Given the description of an element on the screen output the (x, y) to click on. 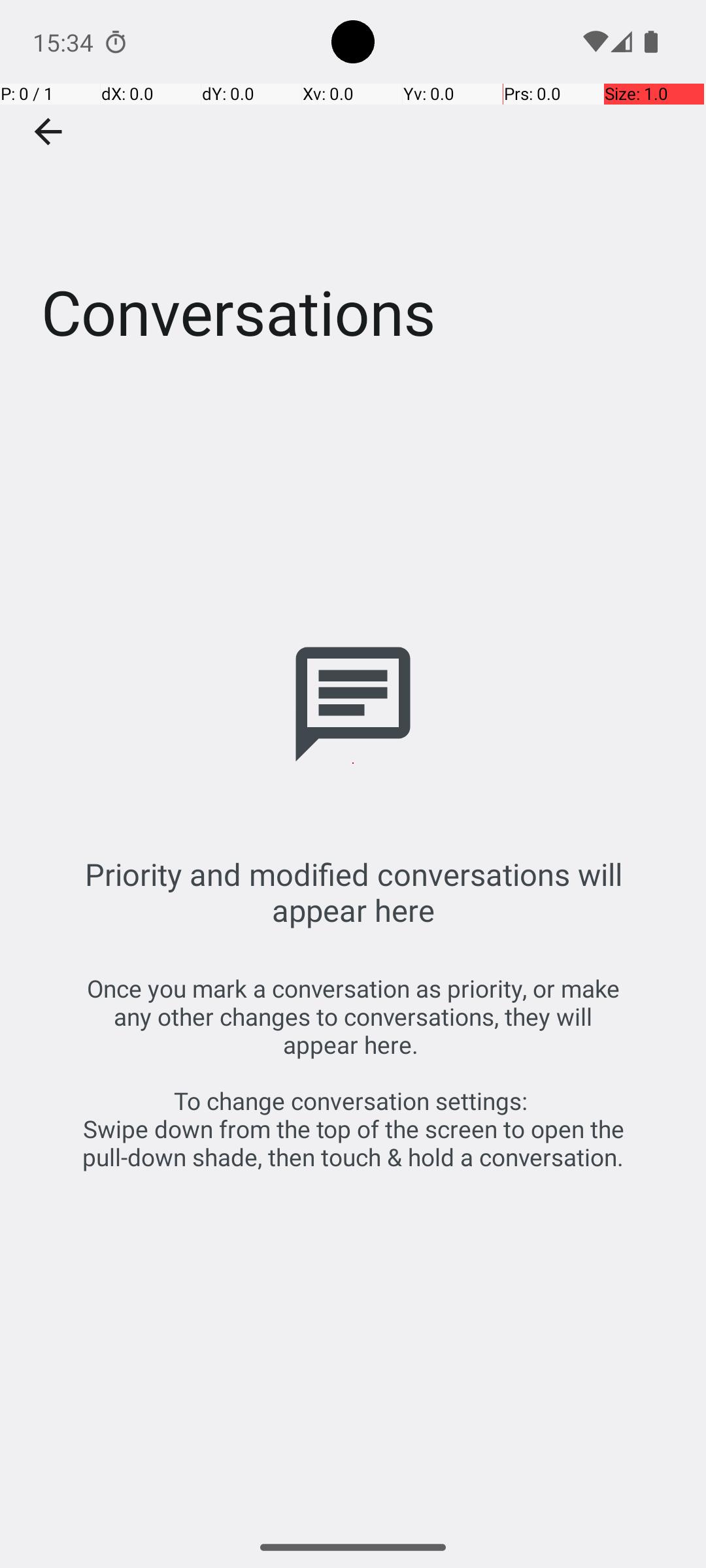
Priority and modified conversations will appear here Element type: android.widget.TextView (352, 891)
Once you mark a conversation as priority, or make any other changes to conversations, they will appear here. 

To change conversation settings: 
Swipe down from the top of the screen to open the pull-down shade, then touch & hold a conversation. Element type: android.widget.TextView (352, 1072)
